Given the description of an element on the screen output the (x, y) to click on. 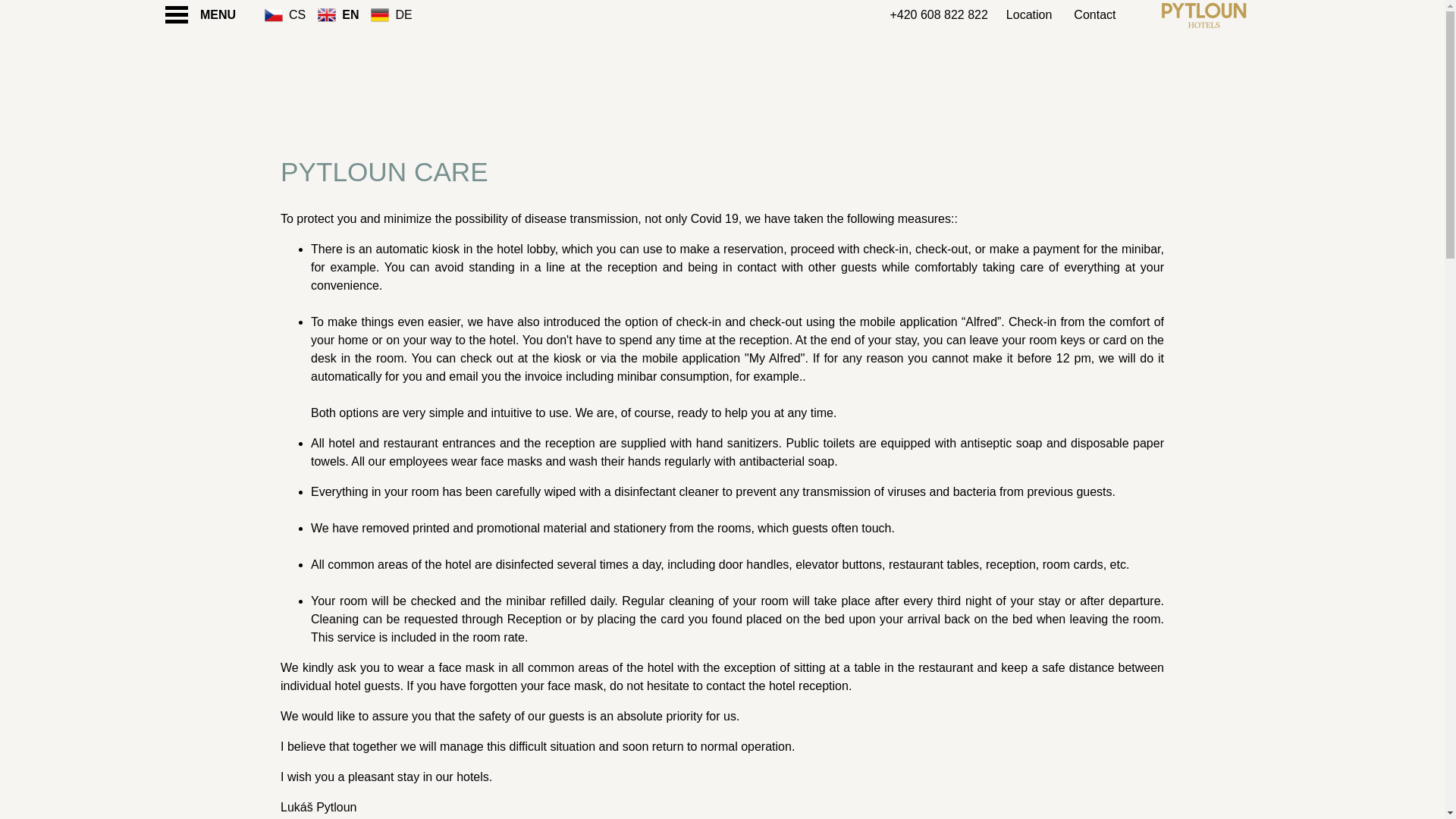
Where we are (1029, 14)
Contact us (1092, 14)
CS (299, 14)
Home (1203, 15)
MENU (206, 15)
EN (353, 14)
Contact (1092, 14)
Location (1029, 14)
DE (405, 14)
